Given the description of an element on the screen output the (x, y) to click on. 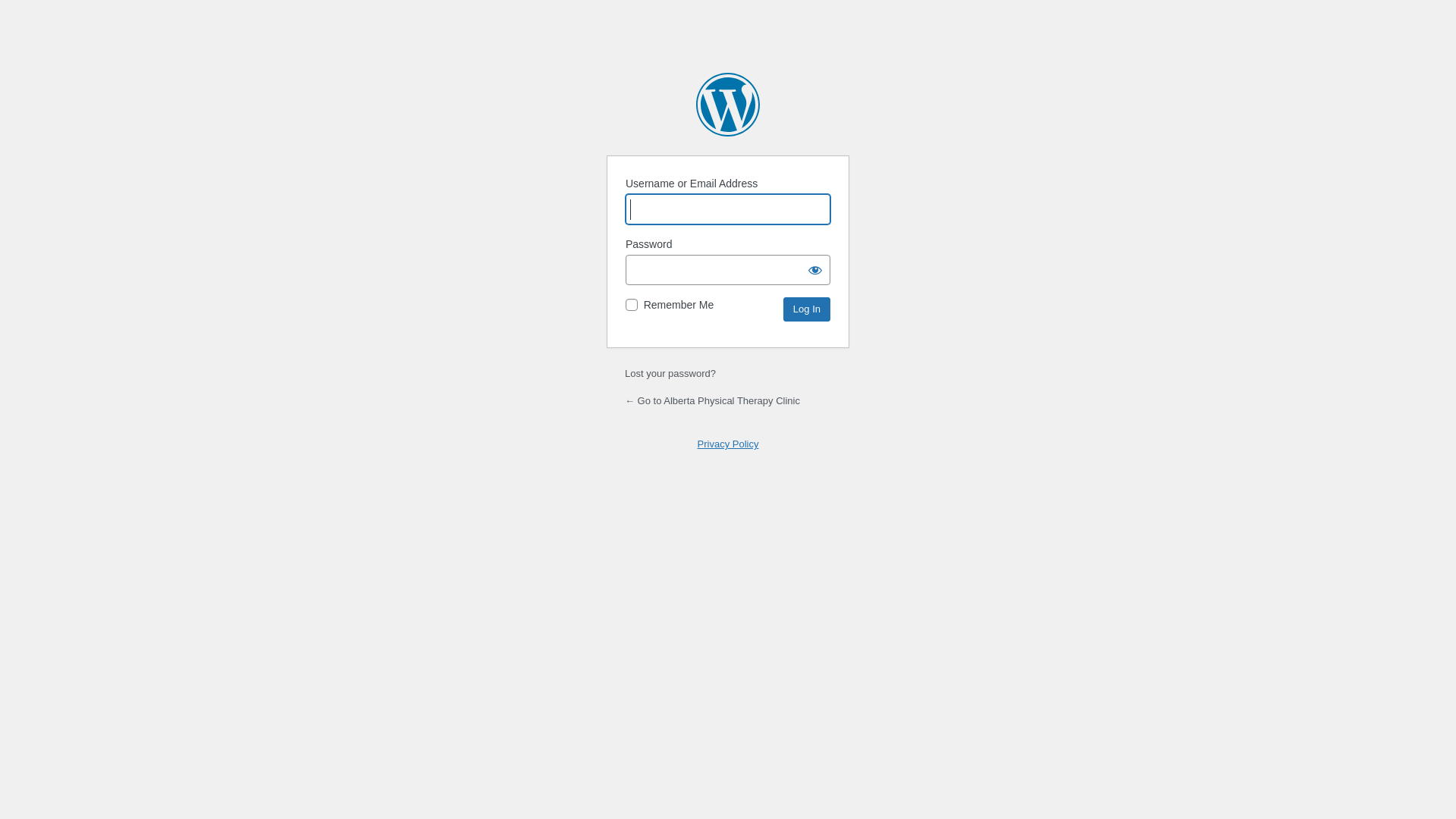
Log In Element type: text (806, 309)
Privacy Policy Element type: text (728, 443)
Powered by WordPress Element type: text (727, 104)
Lost your password? Element type: text (669, 373)
